Given the description of an element on the screen output the (x, y) to click on. 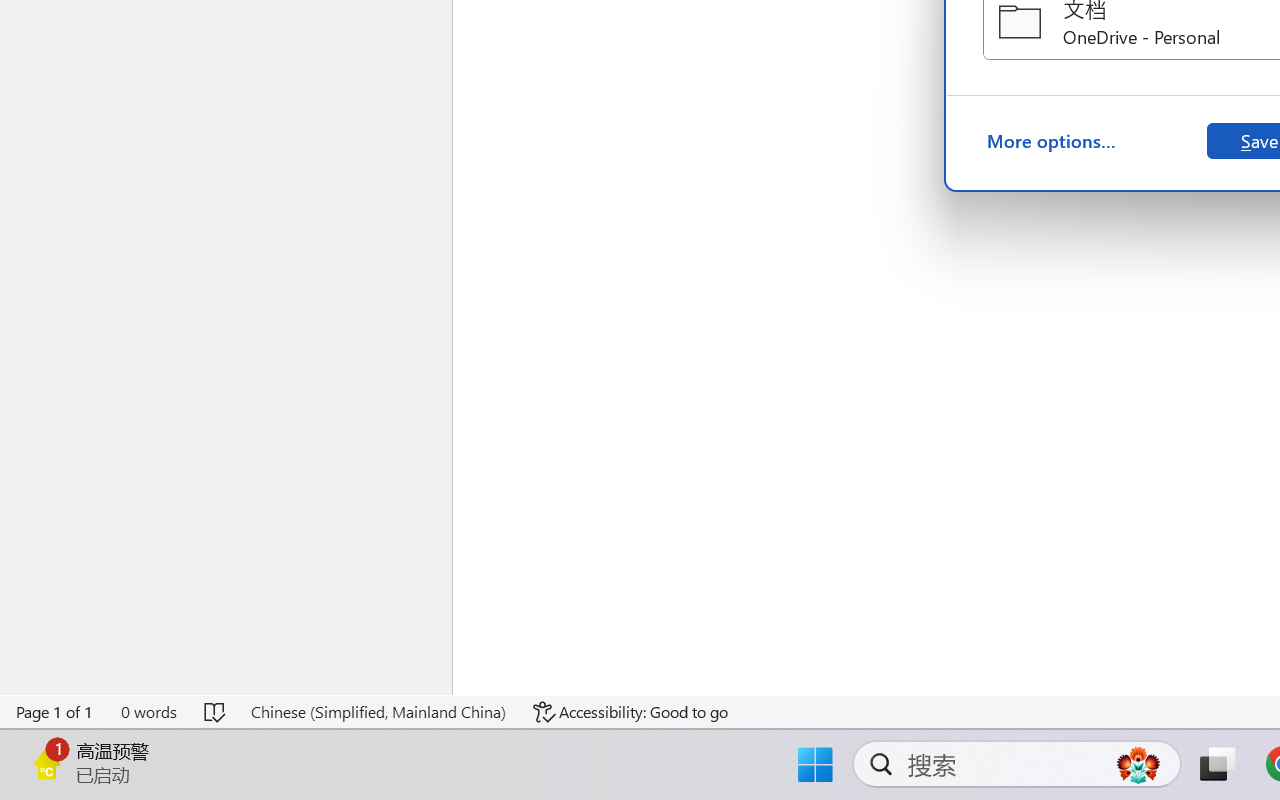
Language Chinese (Simplified, Mainland China) (378, 712)
